Given the description of an element on the screen output the (x, y) to click on. 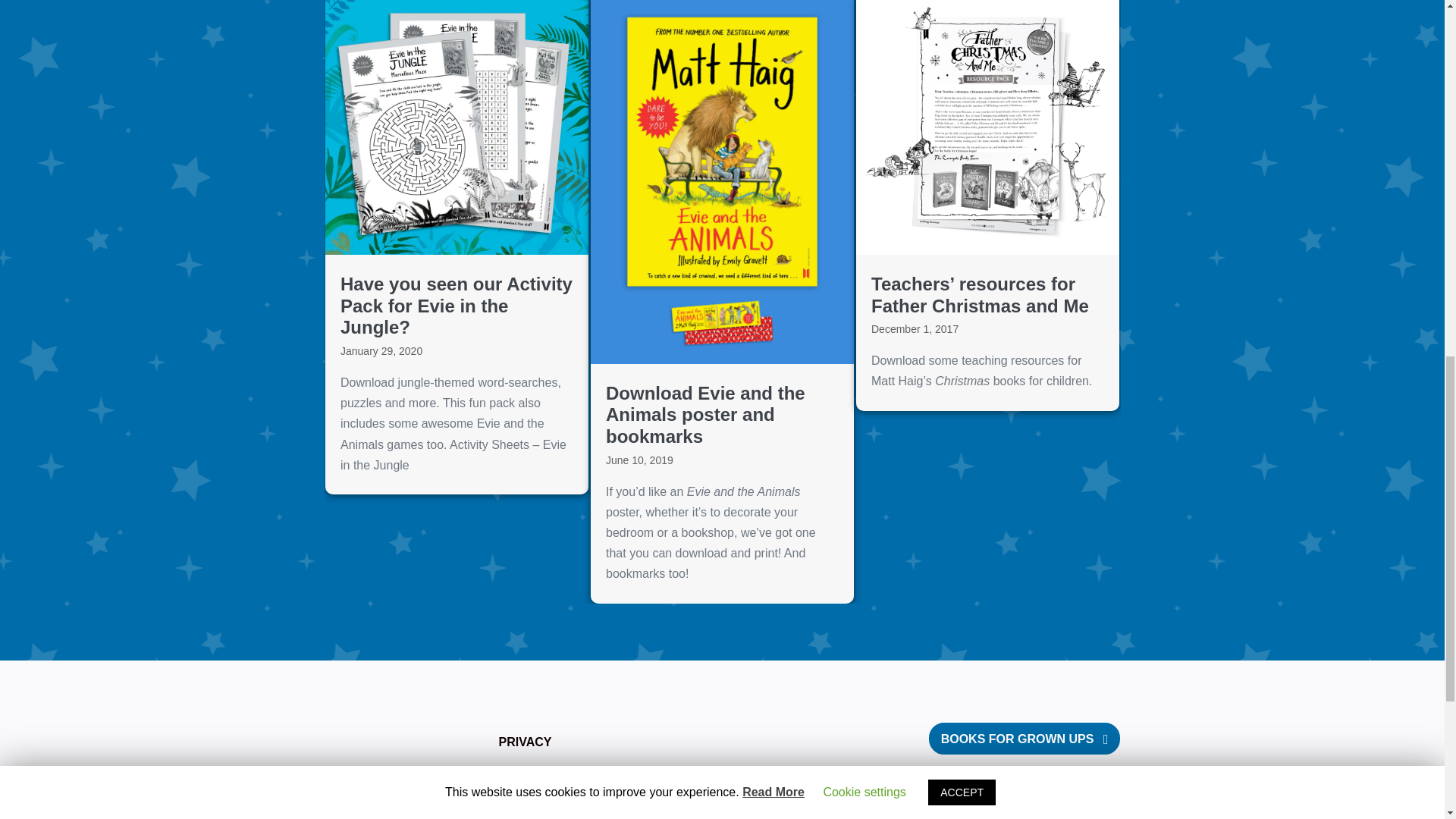
ResourcePack2 (987, 127)
BOOKS FOR GROWN UPS (1024, 738)
PRIVACY (524, 741)
